Given the description of an element on the screen output the (x, y) to click on. 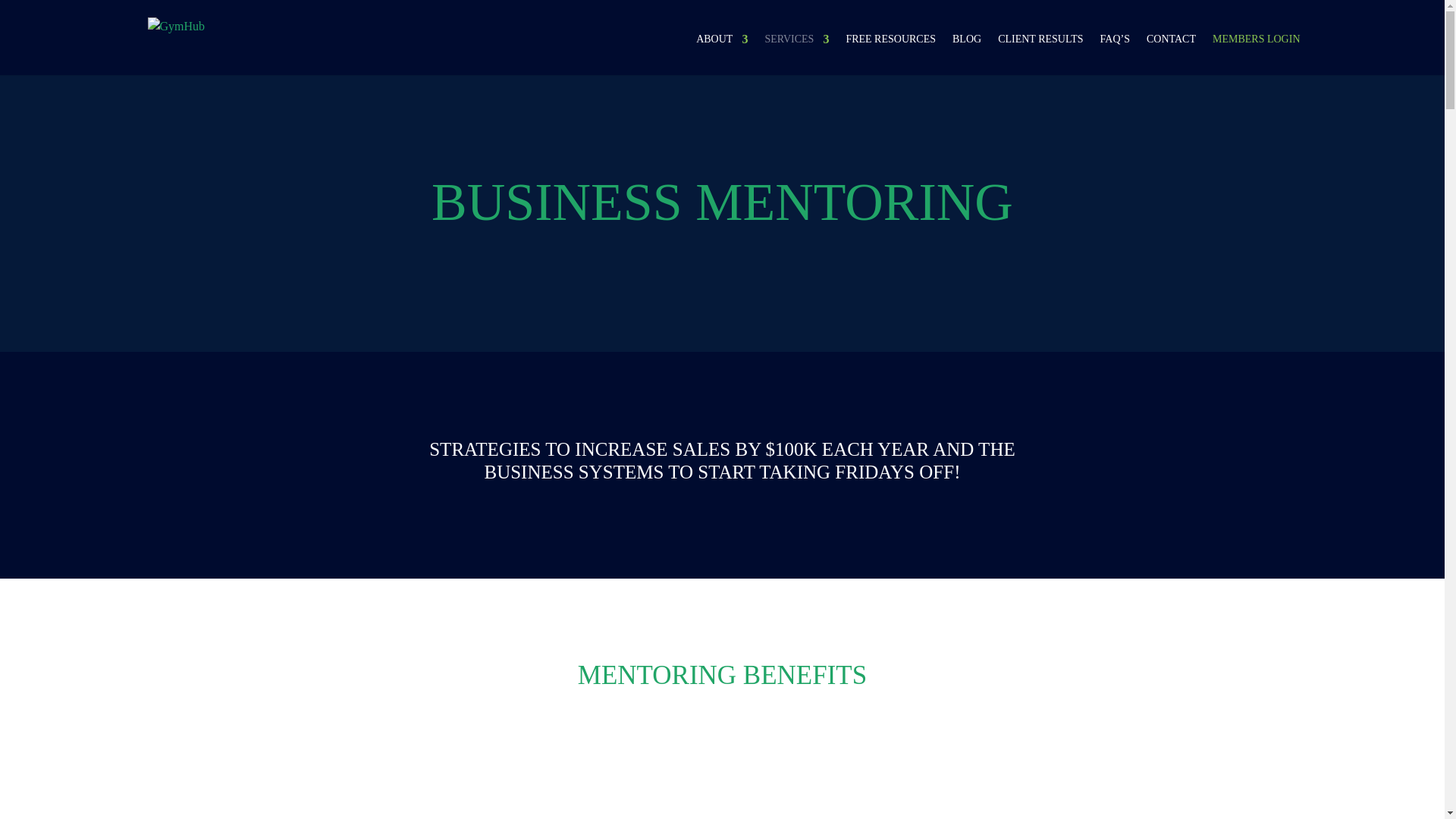
ABOUT (721, 52)
CONTACT (1171, 52)
FREE RESOURCES (890, 52)
SERVICES (796, 52)
CLIENT RESULTS (1040, 52)
MEMBERS LOGIN (1256, 52)
